Given the description of an element on the screen output the (x, y) to click on. 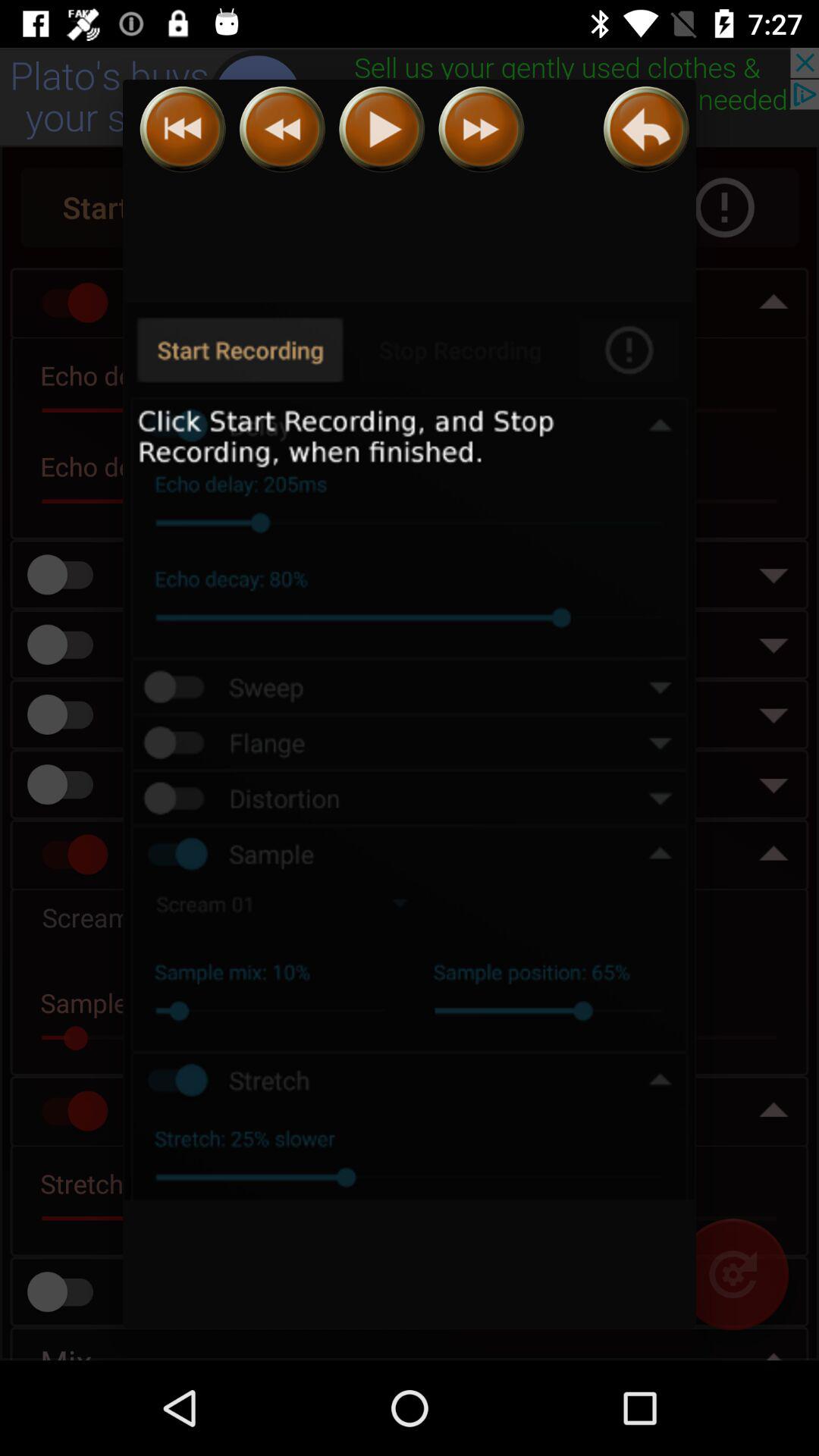
go back to the start of the recording (282, 129)
